Given the description of an element on the screen output the (x, y) to click on. 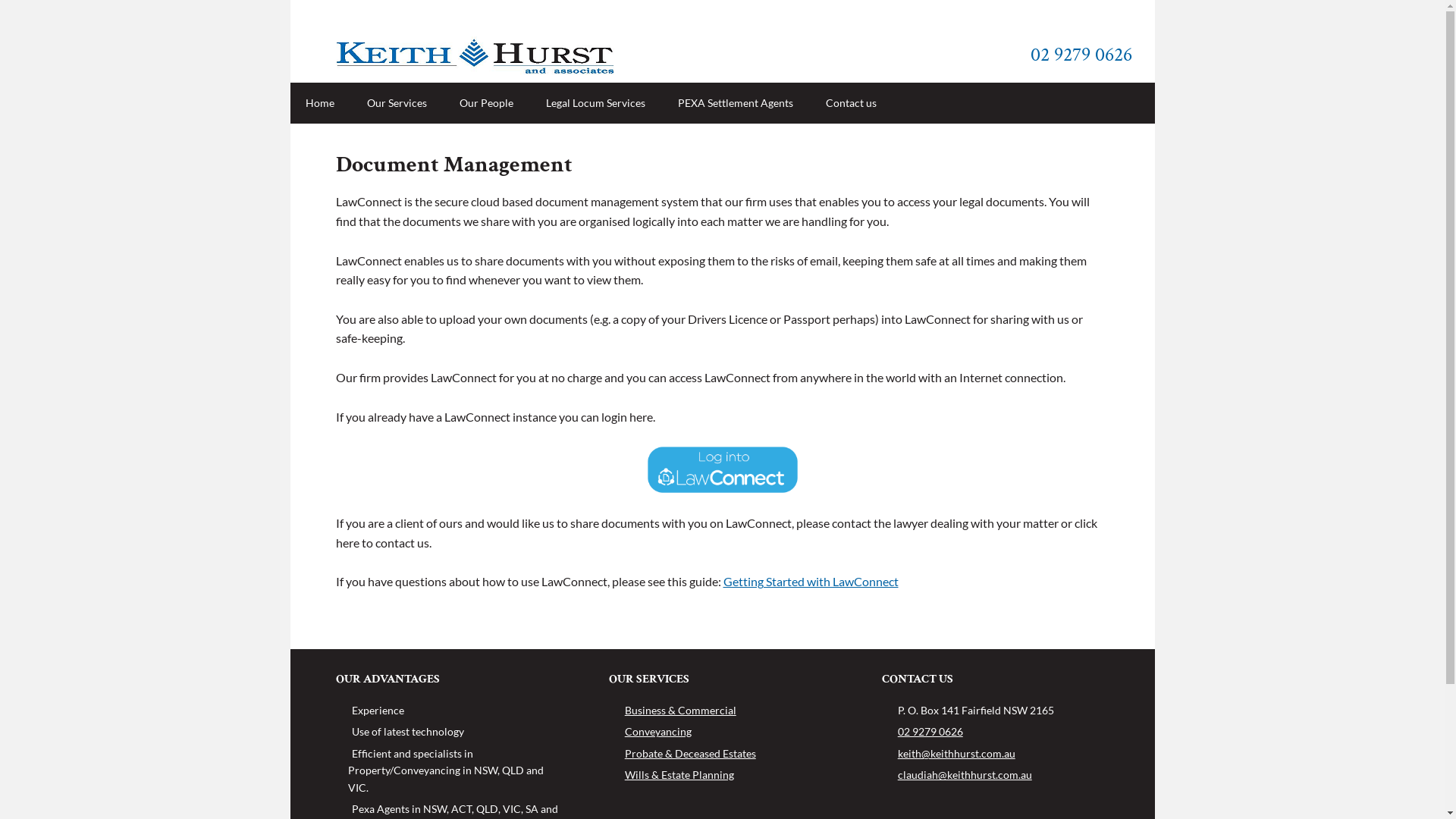
Our Services Element type: text (396, 102)
Skip to primary navigation Element type: text (289, 0)
02 9279 0626 Element type: text (1079, 54)
02 9279 0626 Element type: text (930, 730)
Legal Locum Services Element type: text (595, 102)
Getting Started with LawConnect Element type: text (810, 581)
Keith Hurst and Associates Element type: hover (528, 56)
keith@keithhurst.com.au Element type: text (956, 752)
Wills & Estate Planning Element type: text (677, 774)
Contact us Element type: text (850, 102)
Business & Commercial Element type: text (678, 709)
Home Element type: text (318, 102)
Our People Element type: text (486, 102)
claudiah@keithhurst.com.au Element type: text (964, 774)
Probate & Deceased Estates Element type: text (688, 752)
PEXA Settlement Agents Element type: text (735, 102)
Conveyancing Element type: text (656, 730)
